Given the description of an element on the screen output the (x, y) to click on. 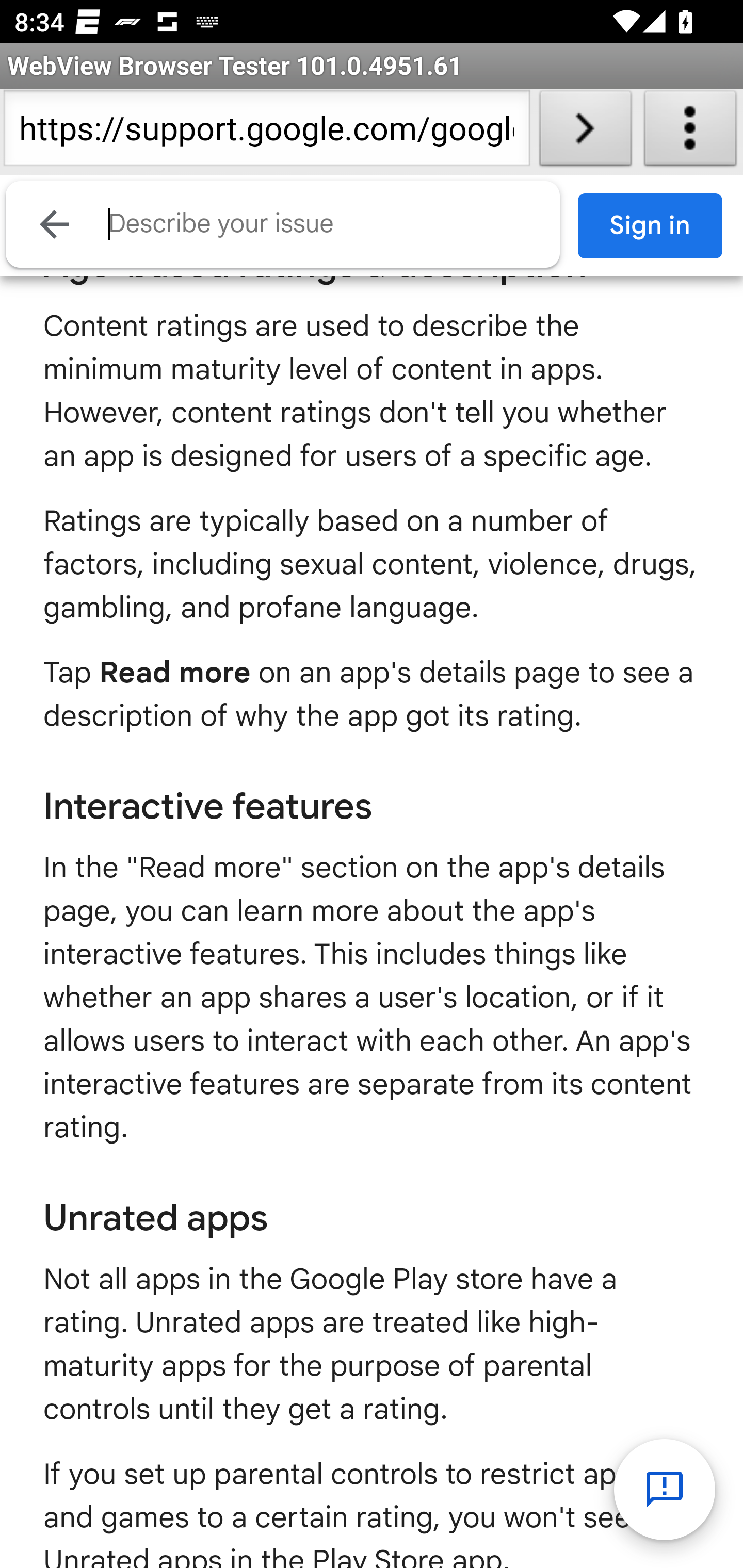
Load URL (585, 132)
About WebView (690, 132)
Main menu (58, 226)
Sign in (650, 226)
